Given the description of an element on the screen output the (x, y) to click on. 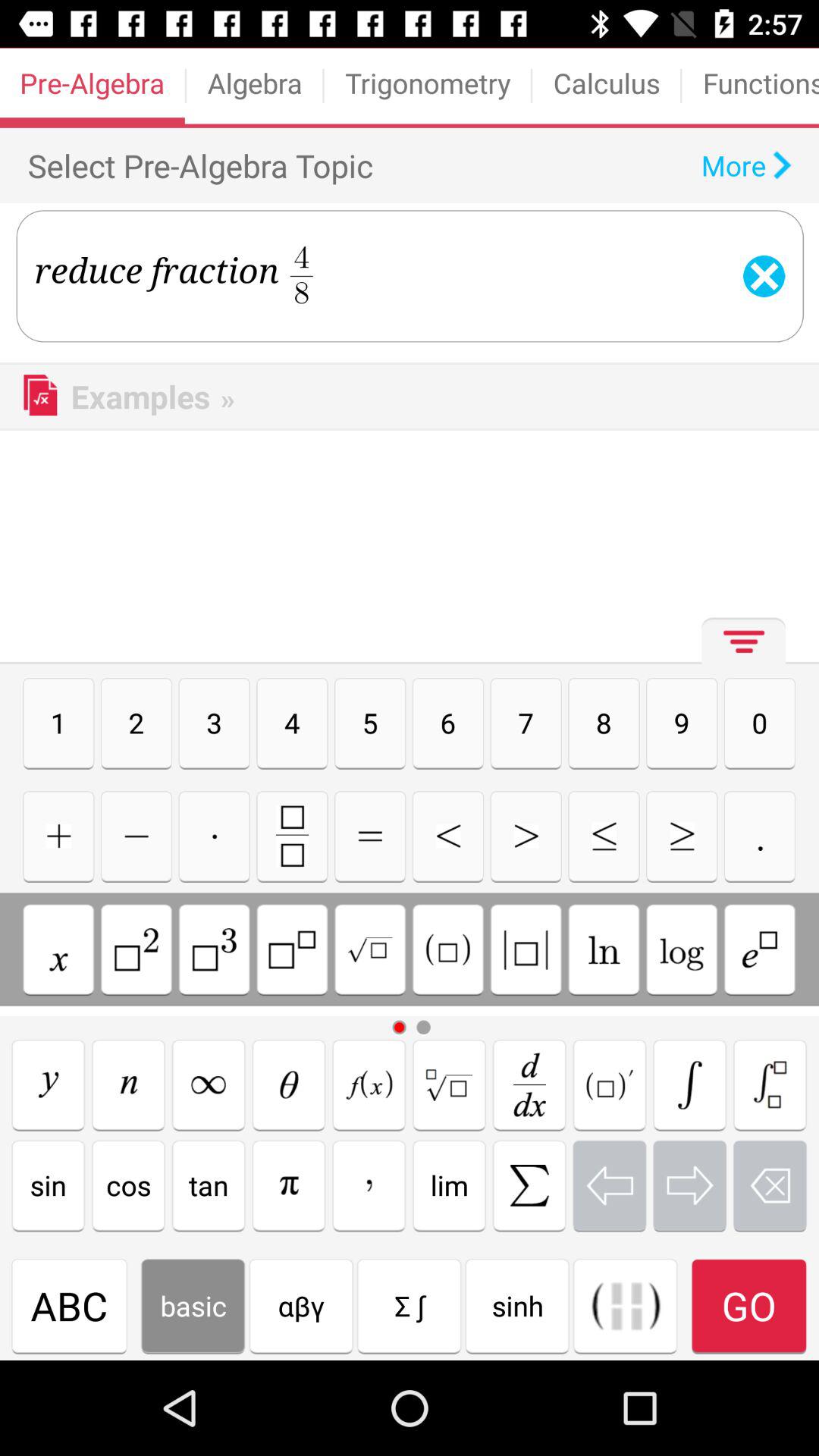
hide menu (739, 647)
